Given the description of an element on the screen output the (x, y) to click on. 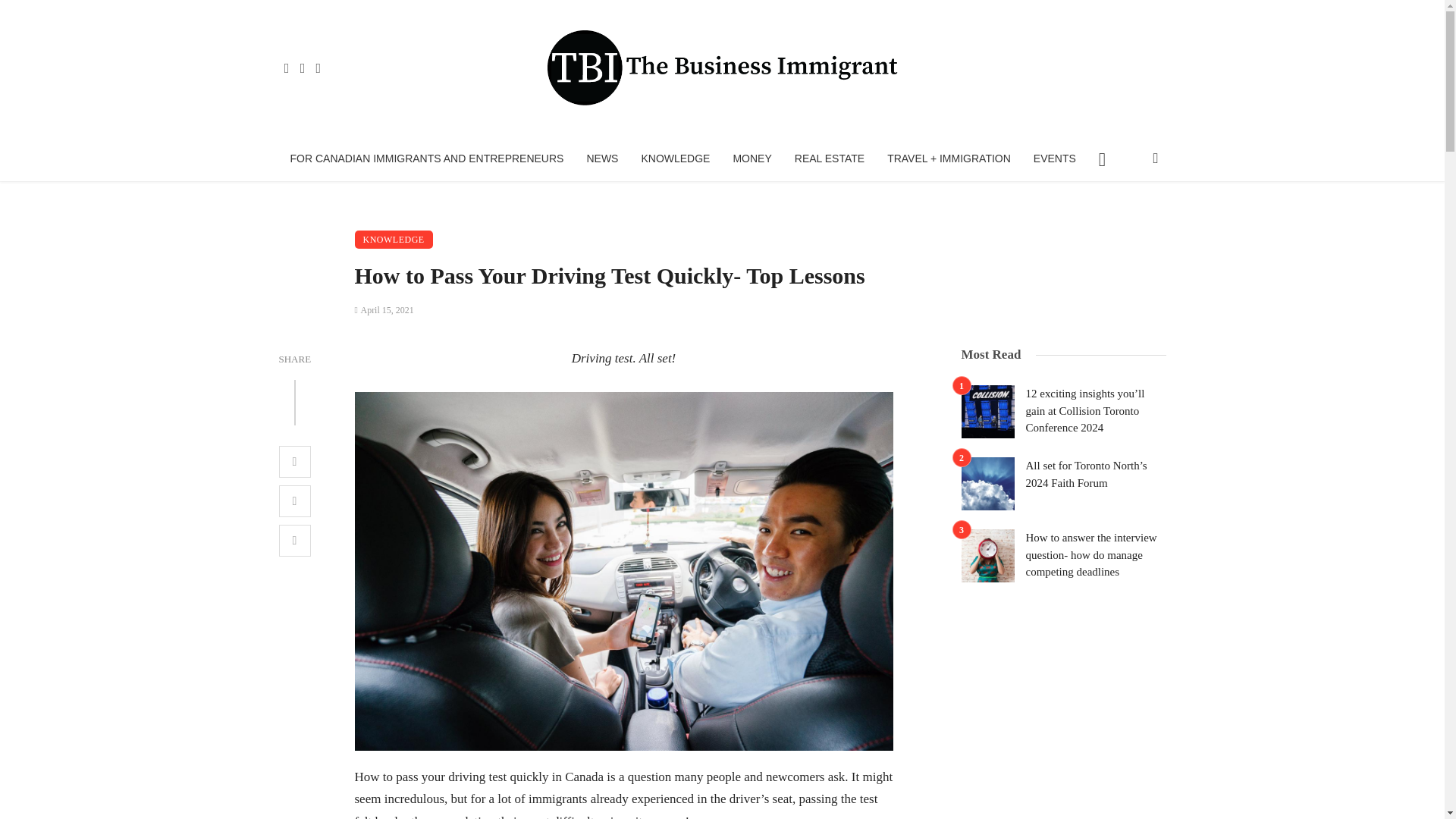
FOR CANADIAN IMMIGRANTS AND ENTREPRENEURS (427, 157)
MONEY (751, 157)
NEWS (601, 157)
KNOWLEDGE (674, 157)
Share on Twitter (295, 500)
Share on Linkedin (295, 540)
REAL ESTATE (829, 157)
April 15, 2021 at 8:36 pm (384, 309)
EVENTS (1054, 157)
KNOWLEDGE (393, 239)
